Given the description of an element on the screen output the (x, y) to click on. 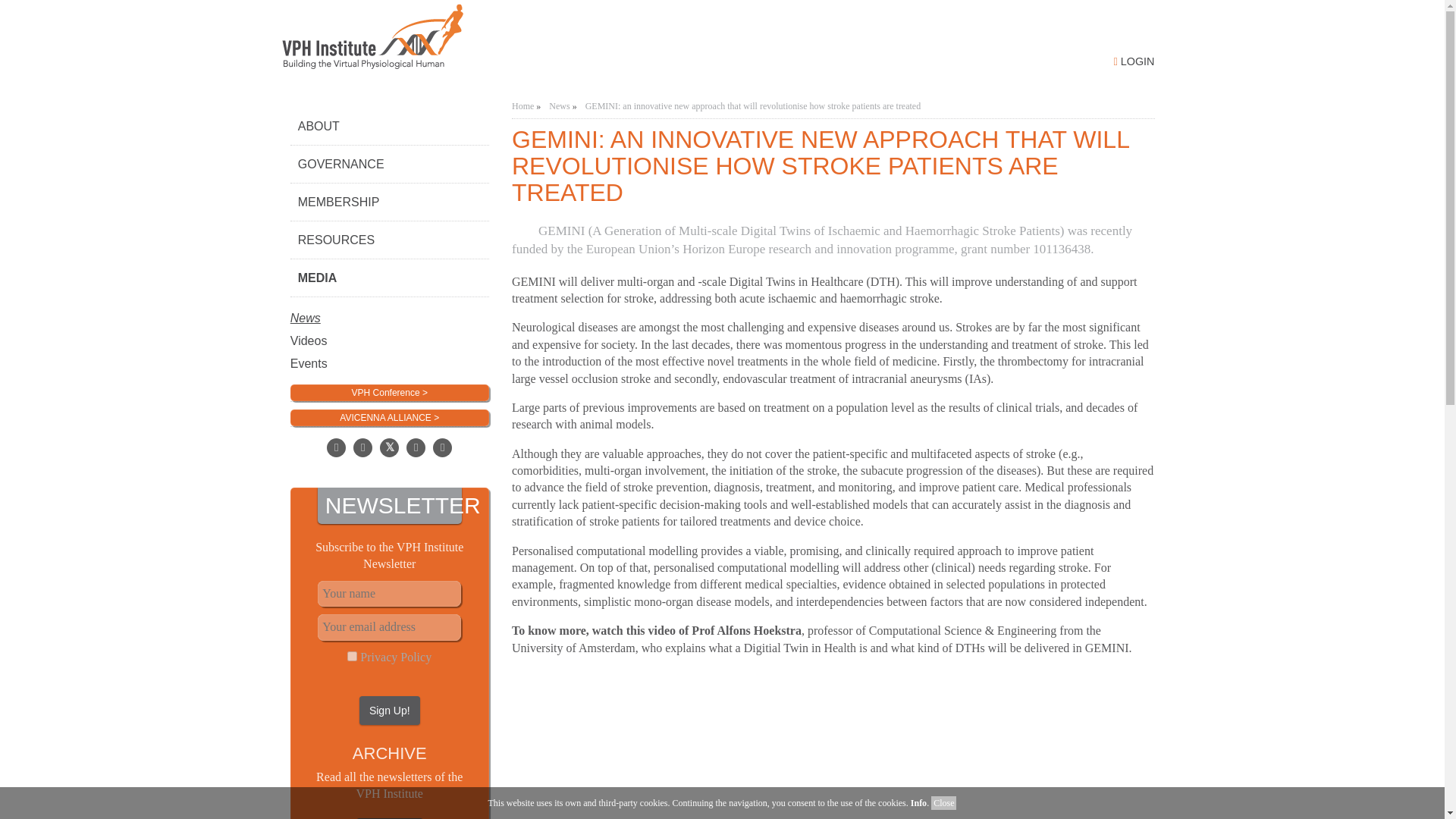
VPH Events (389, 354)
VPH News (389, 308)
LOGIN (1133, 60)
ABOUT (389, 126)
MEDIA (389, 278)
Privacy Policy (394, 656)
Videos (389, 331)
RESOURCES (389, 240)
VPH Istitute (495, 38)
Sign Up! (389, 710)
